Given the description of an element on the screen output the (x, y) to click on. 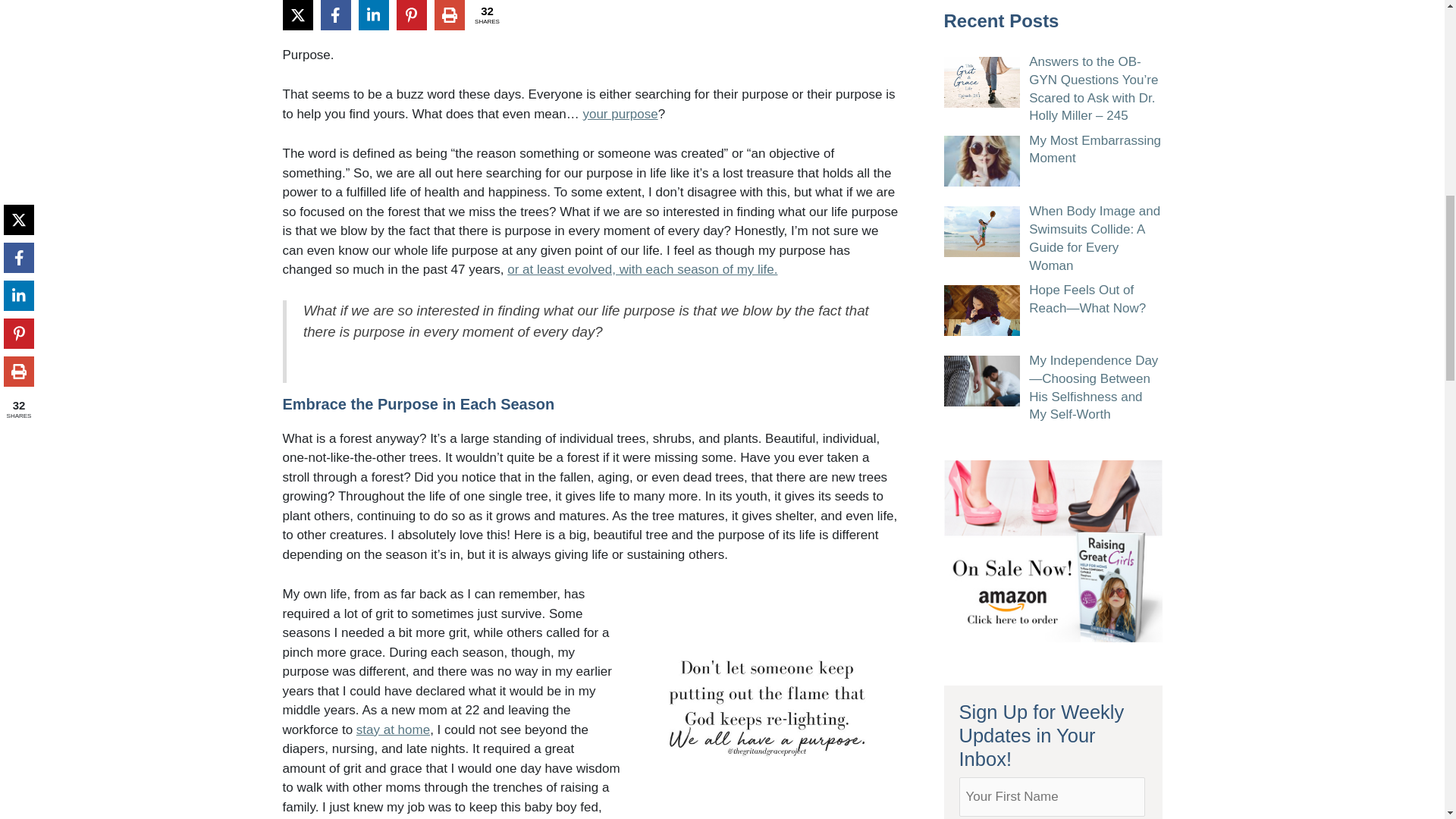
Submit (993, 327)
